Given the description of an element on the screen output the (x, y) to click on. 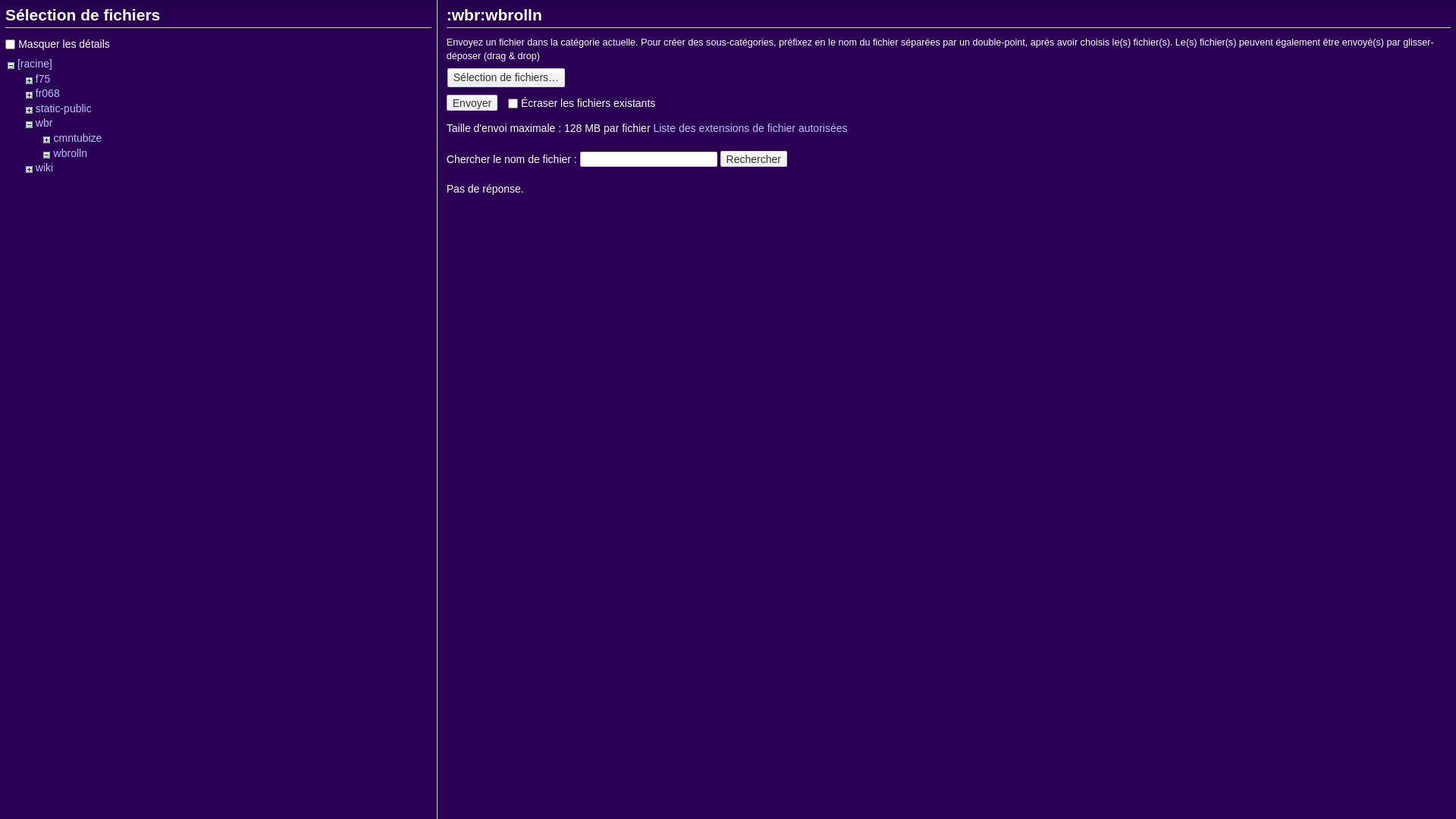
fr068 Element type: text (47, 93)
wbrolln Element type: text (70, 153)
cmntubize Element type: text (77, 137)
wiki Element type: text (44, 167)
wbr Element type: text (44, 122)
f75 Element type: text (42, 78)
static-public Element type: text (63, 108)
[racine] Element type: text (34, 63)
Envoyer Element type: text (471, 102)
Chercher dans wbr:wbrolln:* Element type: hover (648, 158)
Rechercher Element type: text (753, 158)
